Given the description of an element on the screen output the (x, y) to click on. 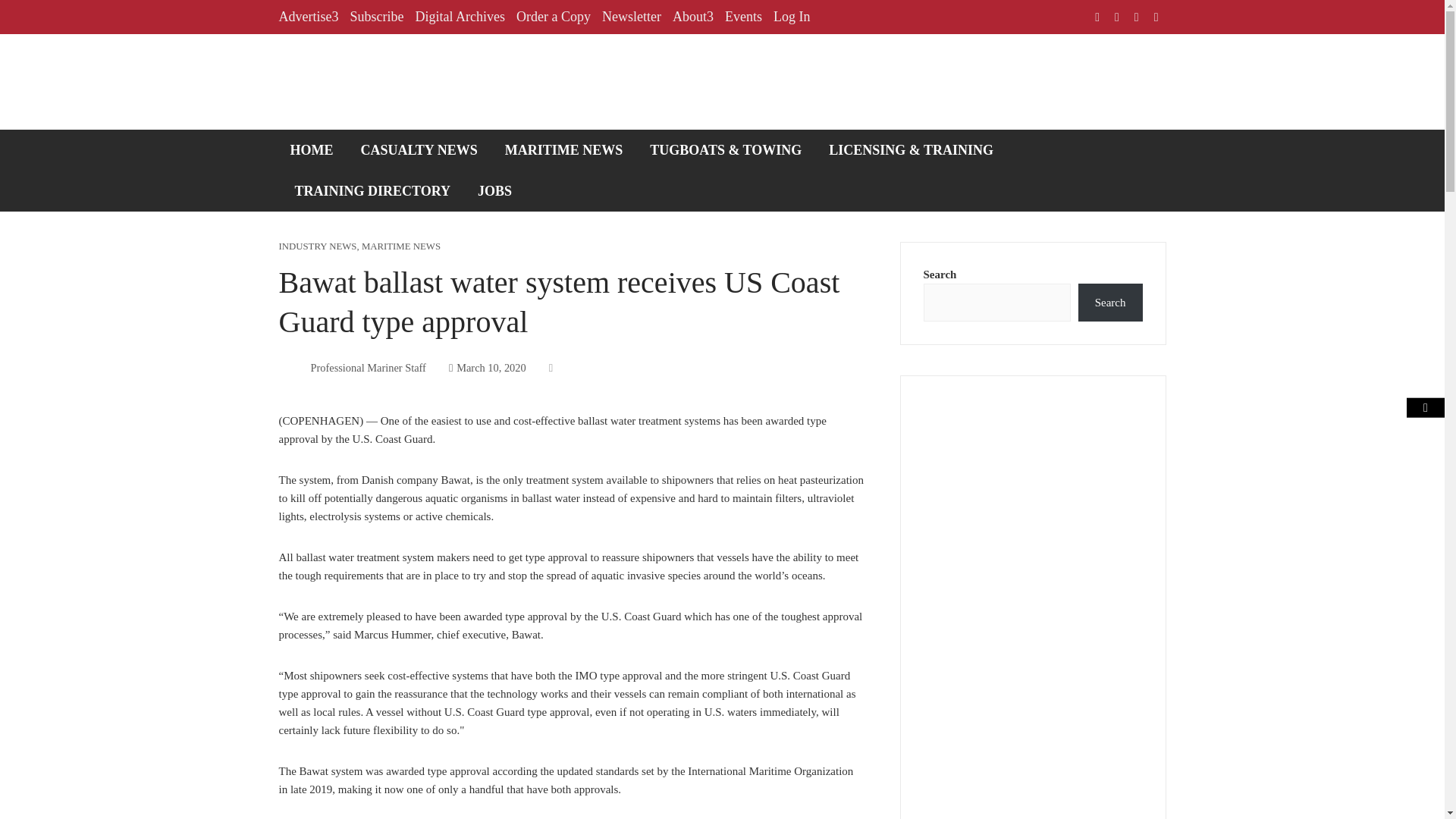
CASUALTY NEWS (418, 149)
MARITIME NEWS (401, 246)
Digital Archives (458, 17)
TRAINING DIRECTORY (373, 190)
MARITIME NEWS (563, 149)
INDUSTRY NEWS (317, 246)
HOME (312, 149)
Newsletter (631, 17)
Subscribe (376, 17)
Advertise (309, 17)
Order a Copy (553, 17)
Log In (791, 17)
About (692, 17)
JOBS (493, 190)
Events (743, 17)
